Given the description of an element on the screen output the (x, y) to click on. 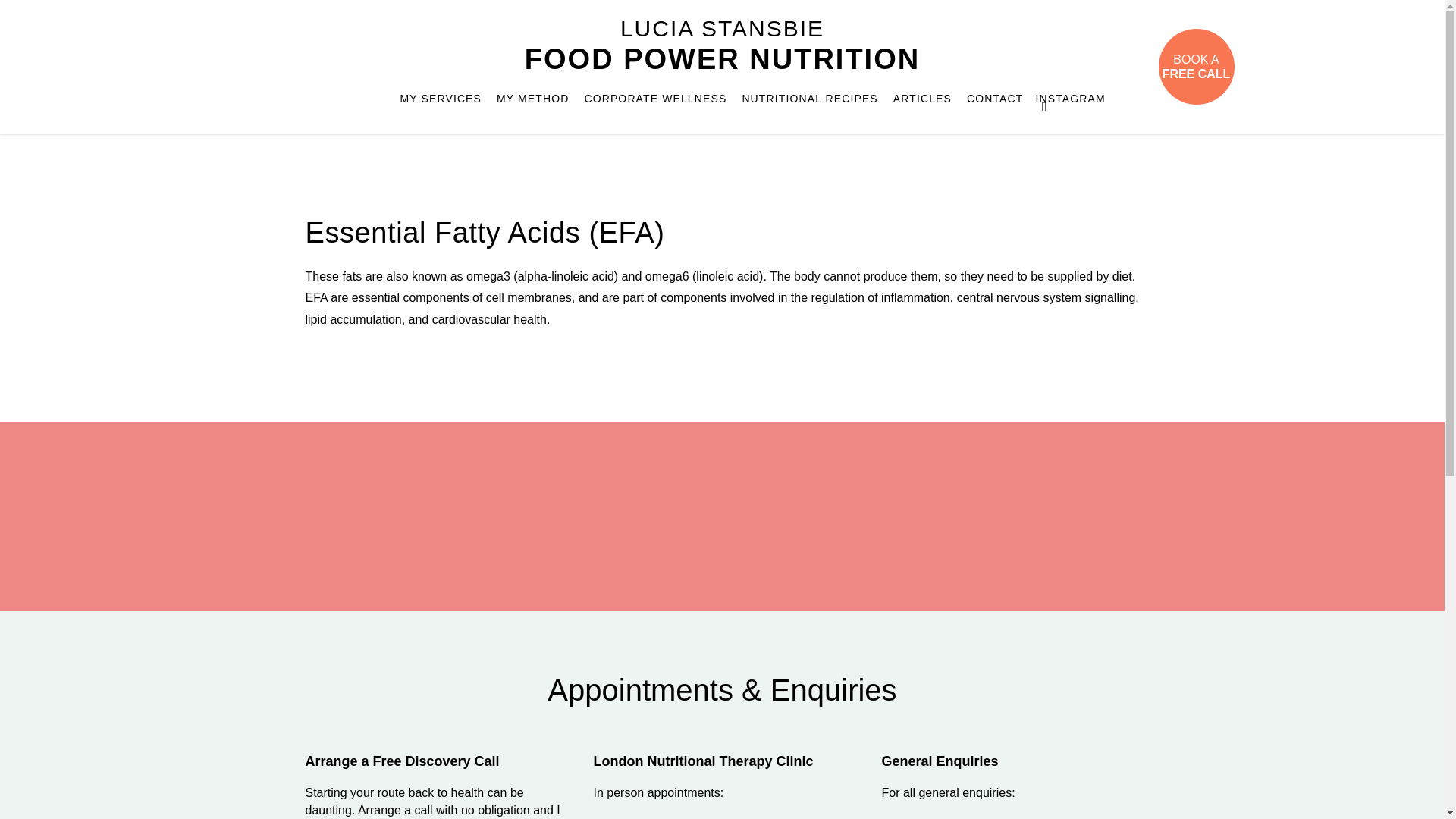
ARTICLES (922, 99)
INSTAGRAM (722, 45)
Follow on Instagram (1043, 103)
NUTRITIONAL RECIPES (1043, 103)
CORPORATE WELLNESS (809, 99)
MY METHOD (654, 99)
Food Power main logo link (532, 99)
CONTACT (722, 45)
MY SERVICES (994, 99)
